Given the description of an element on the screen output the (x, y) to click on. 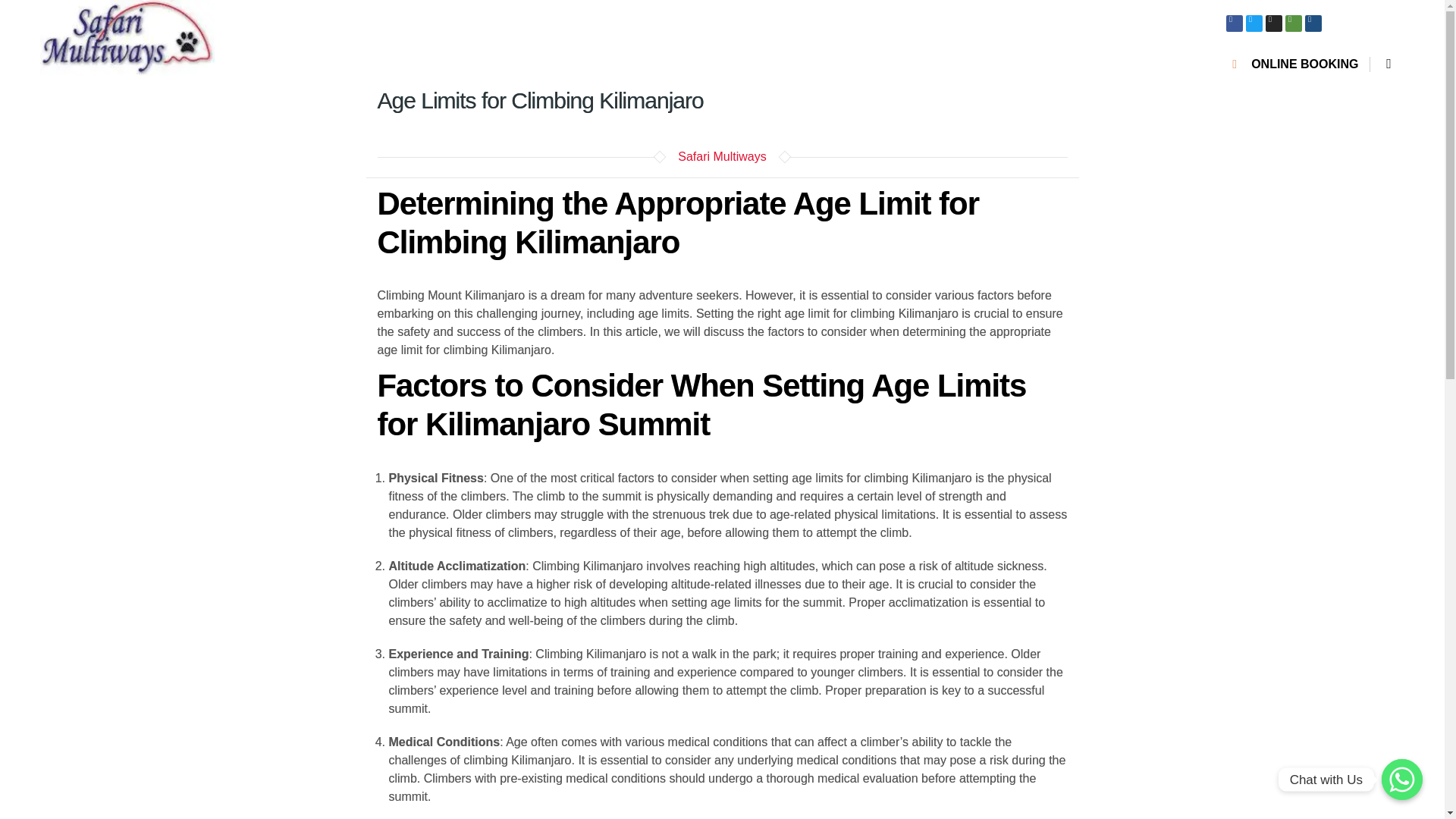
Safari Multiways (721, 155)
ONLINE BOOKING (1294, 63)
